Given the description of an element on the screen output the (x, y) to click on. 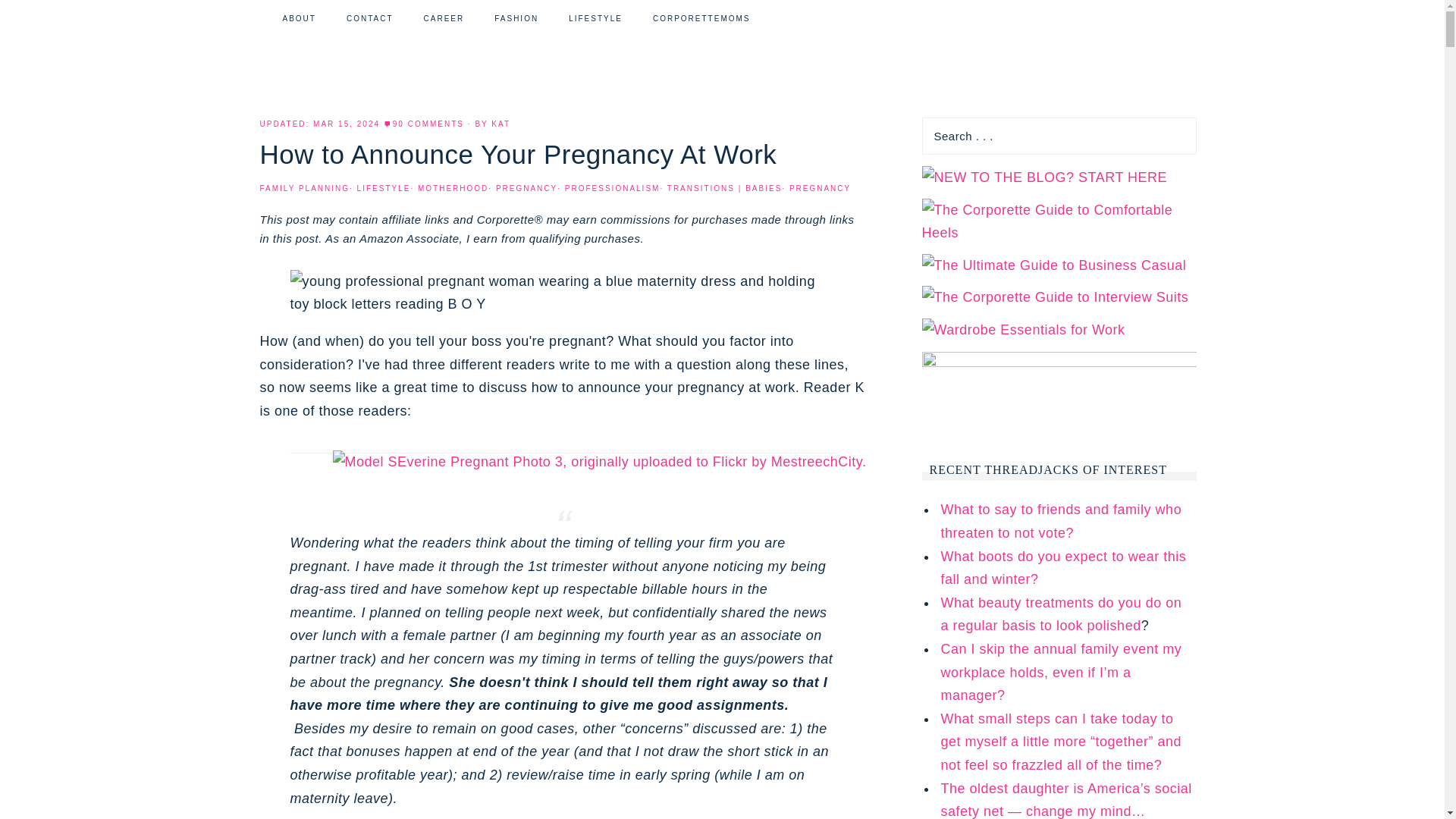
how to announce your pregnancy at work (562, 293)
CAREER (443, 18)
ABOUT (299, 18)
FASHION (516, 18)
CONTACT (370, 18)
